Given the description of an element on the screen output the (x, y) to click on. 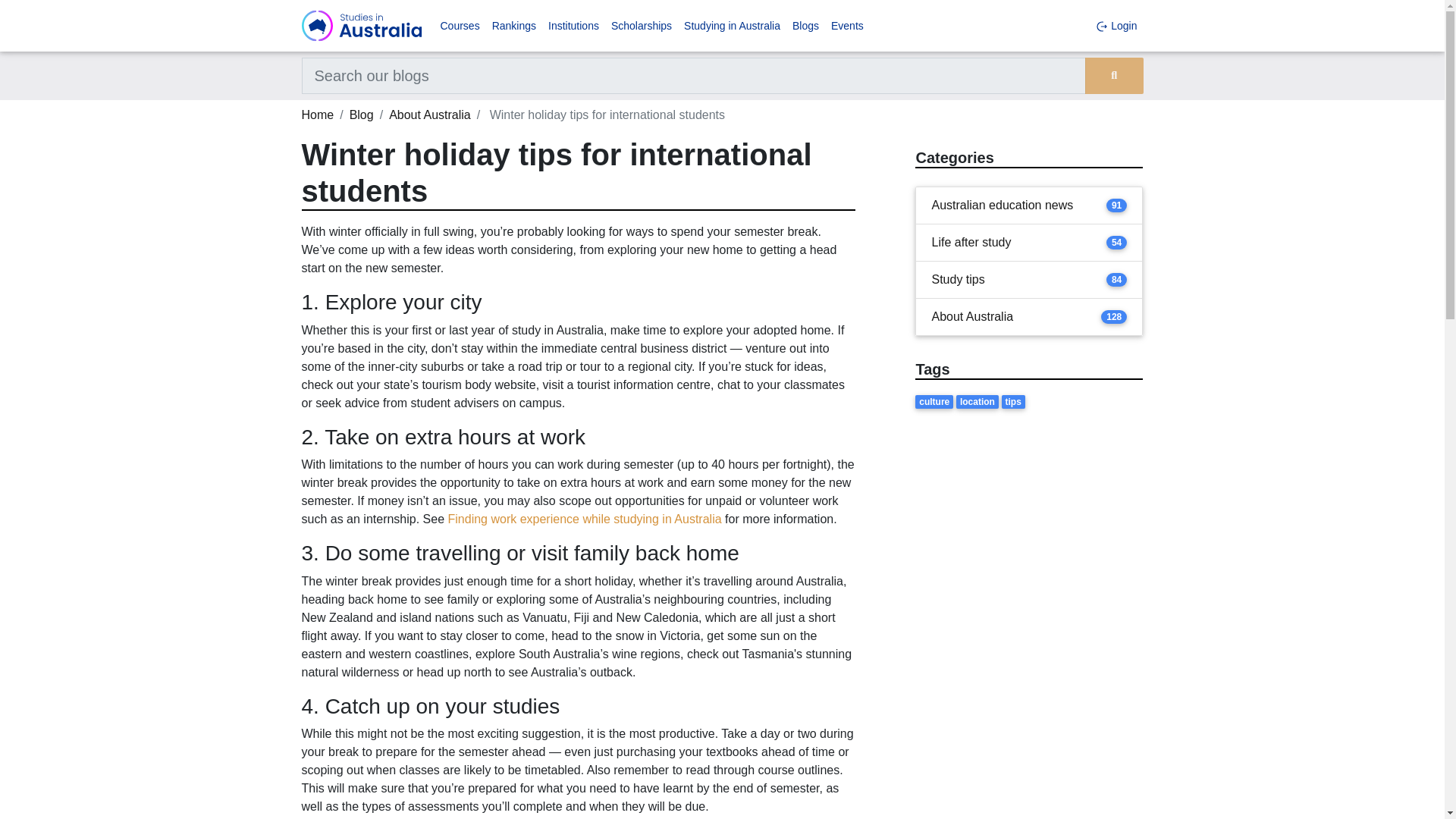
Rankings (513, 25)
Life after study (970, 242)
Events (847, 25)
Home (317, 114)
About Australia (972, 316)
About Australia (429, 114)
Finding work experience while studying in Australia (585, 518)
Institutions (573, 25)
Scholarships (641, 25)
Study tips (957, 280)
Australian education news (1002, 205)
Studying in Australia (732, 25)
culture (935, 400)
tips (1014, 400)
Login (1115, 25)
